Given the description of an element on the screen output the (x, y) to click on. 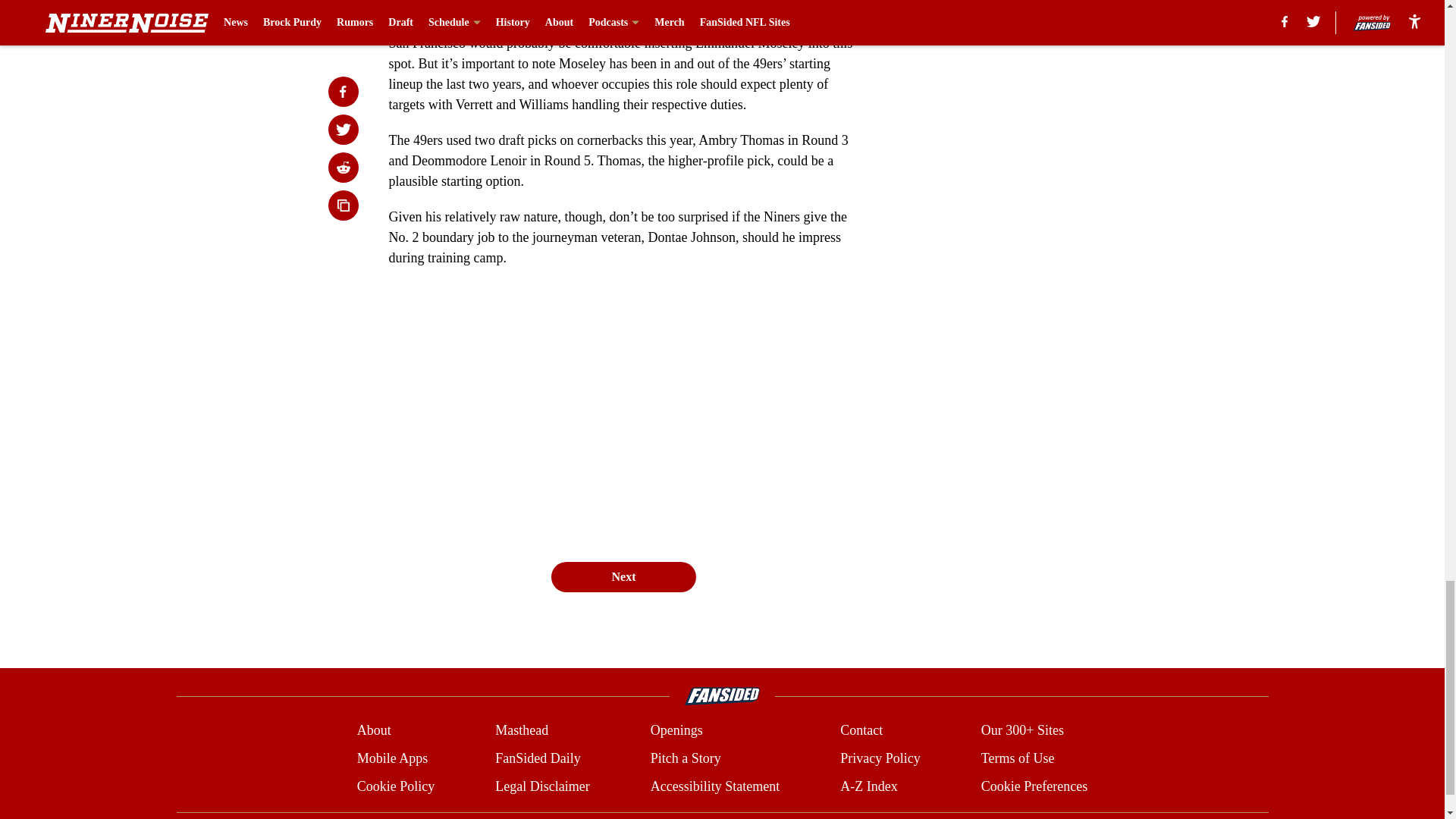
FanSided Daily (537, 758)
About (373, 730)
Next (622, 576)
Masthead (521, 730)
Contact (861, 730)
Pitch a Story (685, 758)
Openings (676, 730)
Mobile Apps (392, 758)
